Given the description of an element on the screen output the (x, y) to click on. 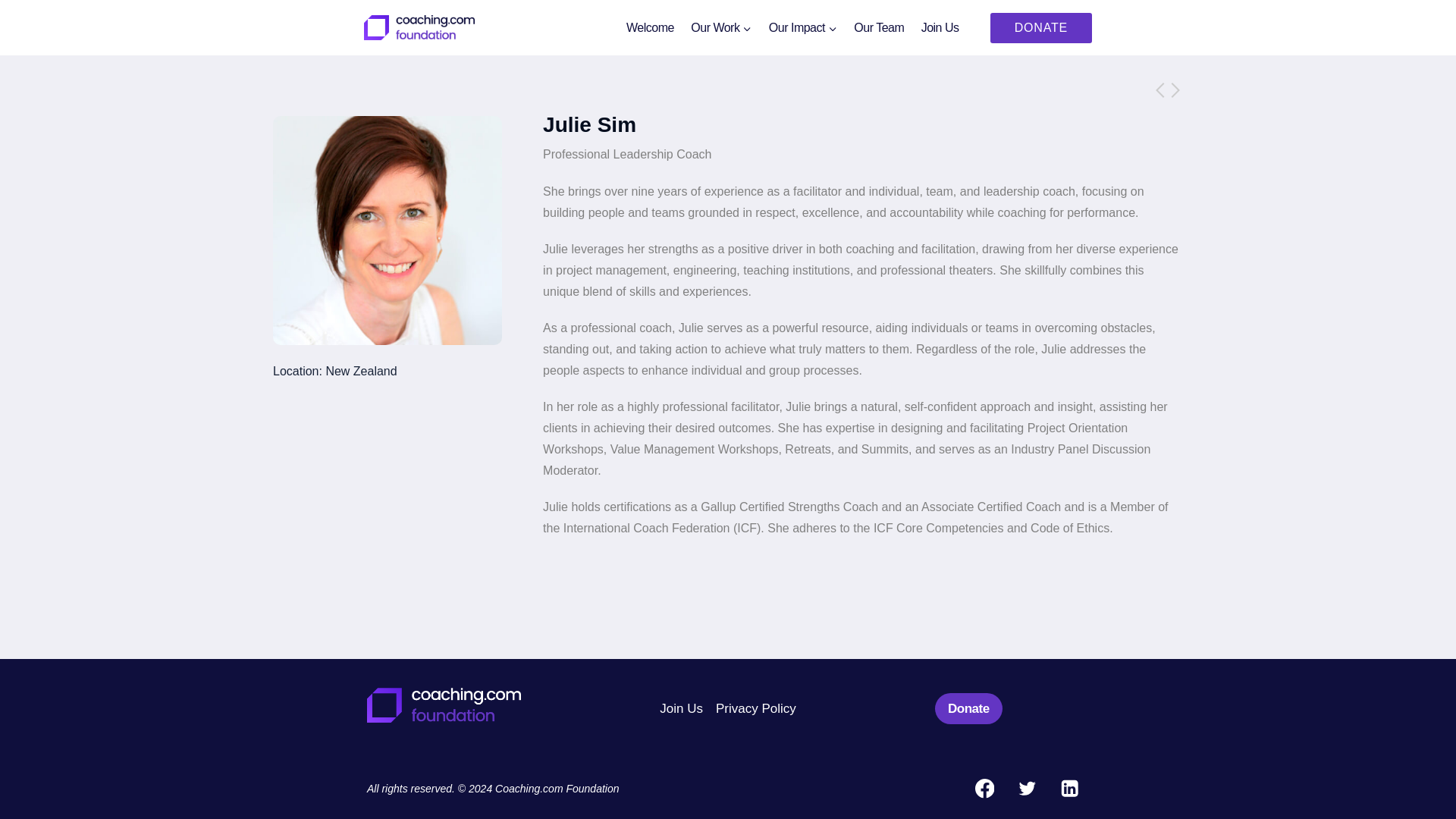
Our Impact (802, 27)
Join Us (681, 708)
Join Us (939, 27)
Welcome (649, 27)
Our Work (721, 27)
Our Team (878, 27)
Privacy Policy (755, 708)
Donate (968, 707)
DONATE (1041, 27)
